Given the description of an element on the screen output the (x, y) to click on. 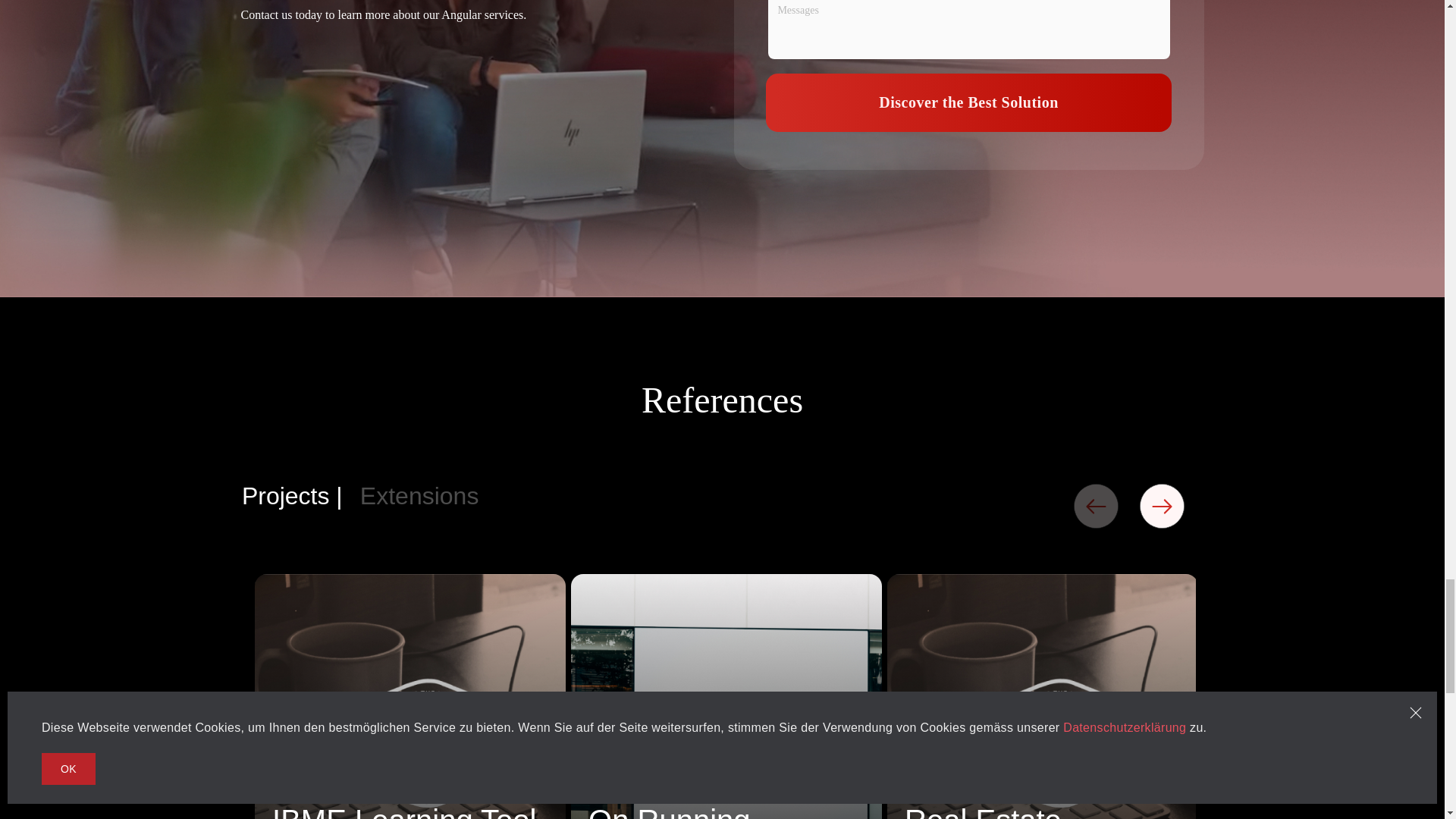
Extensions (419, 496)
Real Estate Calculator (1042, 808)
On Running - Partnerbootcamp (726, 808)
